Given the description of an element on the screen output the (x, y) to click on. 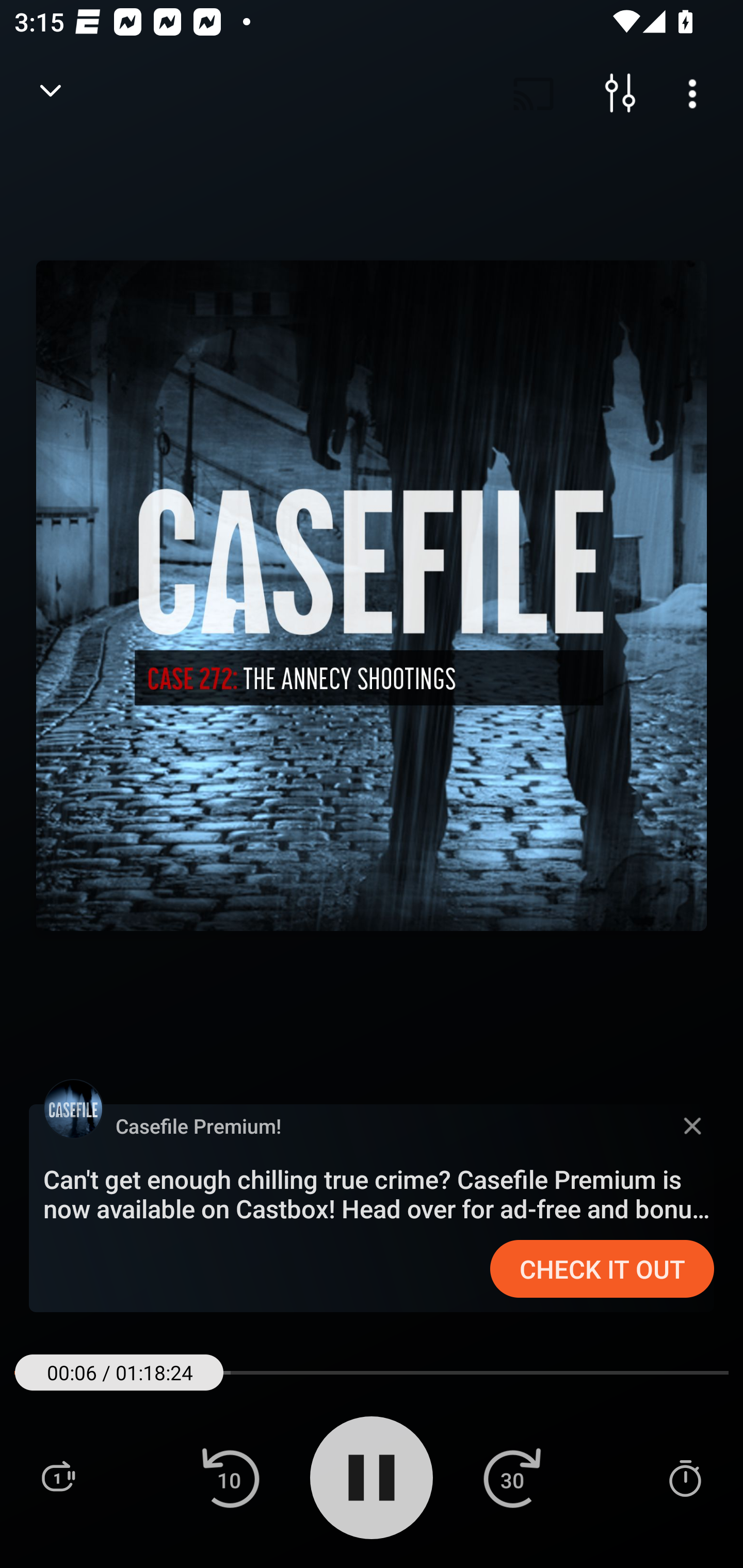
Cast. Disconnected (533, 93)
 Back (50, 94)
CHECK IT OUT (602, 1269)
 Playlist (57, 1477)
Sleep Timer  (684, 1477)
